Given the description of an element on the screen output the (x, y) to click on. 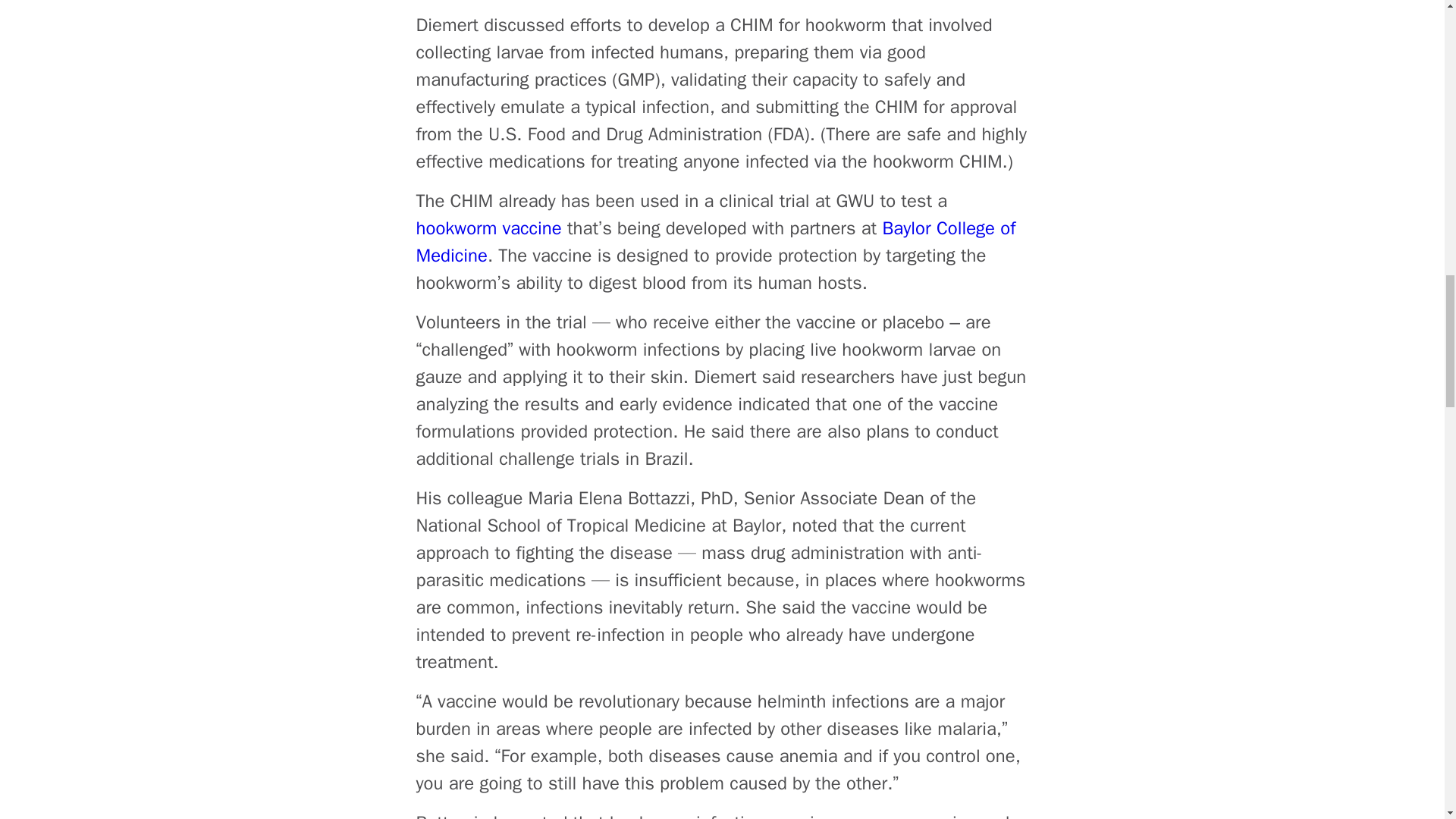
hookworm vaccine (487, 228)
Baylor College of Medicine (714, 241)
